Given the description of an element on the screen output the (x, y) to click on. 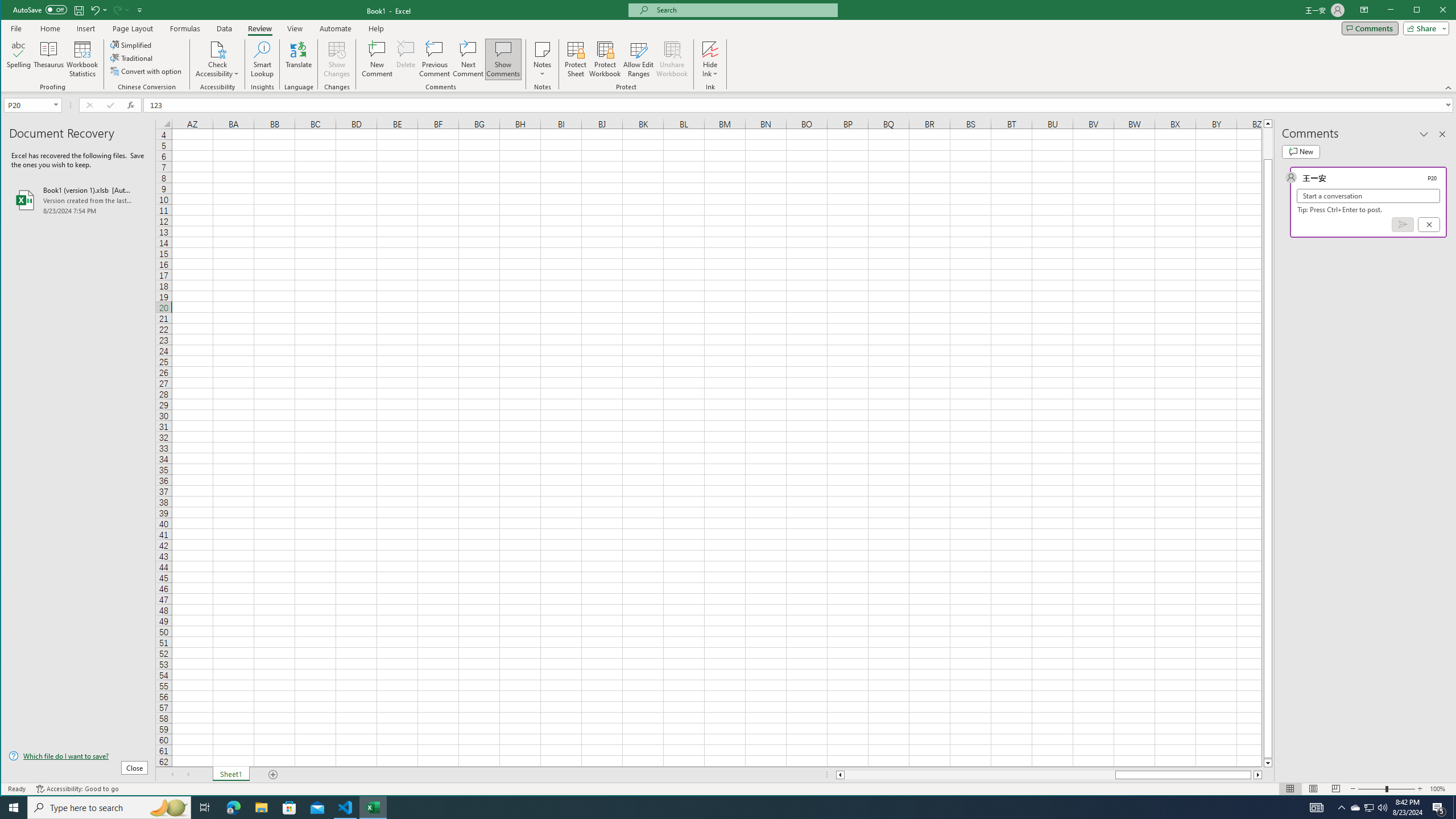
Delete (405, 59)
Spelling... (18, 59)
Microsoft Store (289, 807)
Traditional (132, 57)
Notification Chevron (1341, 807)
New Comment (377, 59)
Page up (1267, 142)
